Given the description of an element on the screen output the (x, y) to click on. 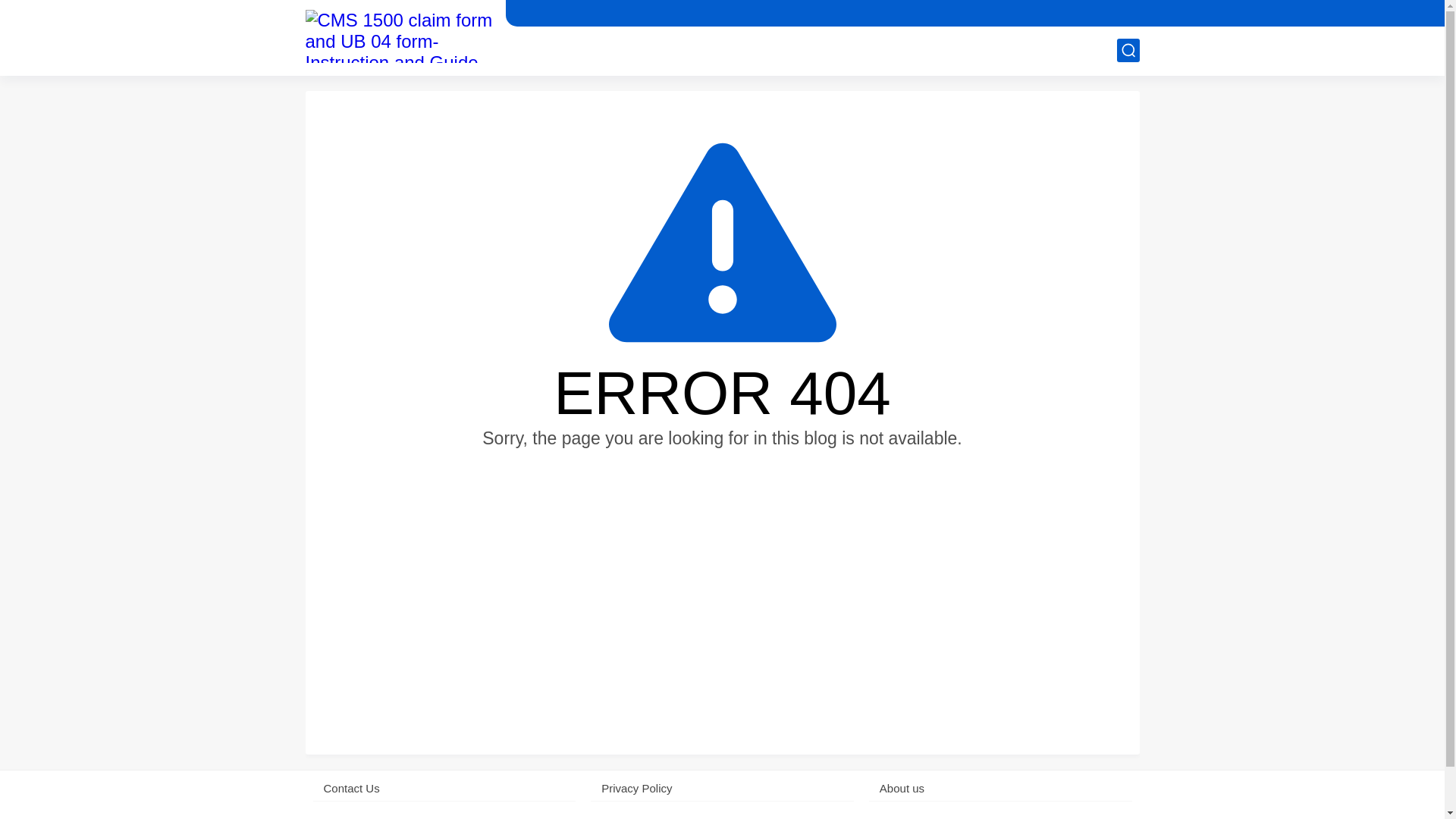
About us (1000, 788)
Privacy Policy (722, 788)
Contact Us (444, 788)
CMS 1500 claim form and UB 04 form- Instruction and Guide (399, 36)
